Given the description of an element on the screen output the (x, y) to click on. 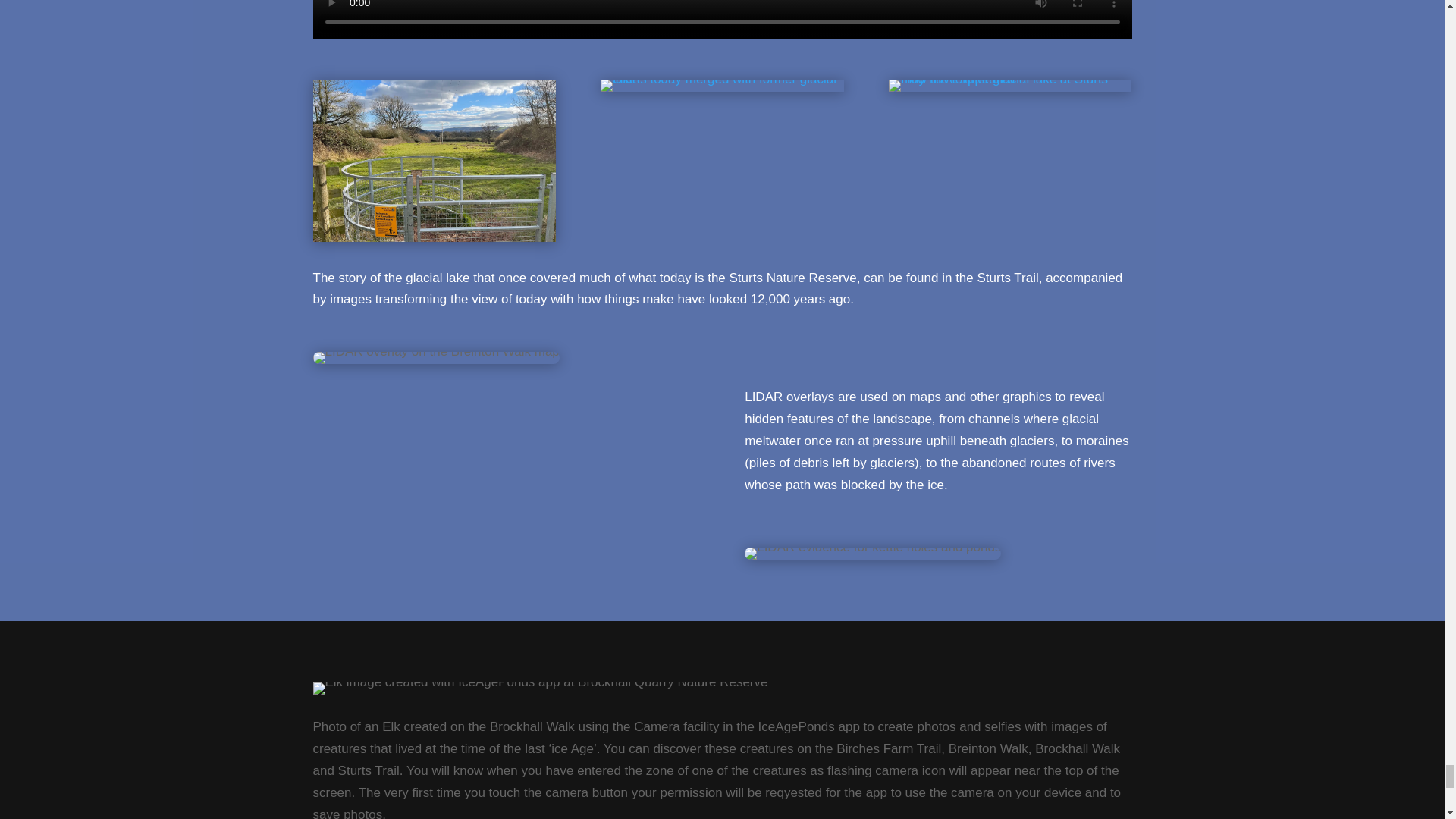
Sturts today merged with former glacial lake (721, 79)
View from Sturts entrance today (433, 237)
LIDAR overlay on the Breinton Walk map (436, 357)
Elk (540, 688)
Sturts today merged with former glacial lake (721, 85)
ViewFromCarPark (433, 160)
LIDAR evidence for kettle holes and ponds (872, 553)
How the former glacial lake at Sturts may have appeared (1009, 85)
How the former glacial lake at Sturts may have appeared (1009, 79)
